Given the description of an element on the screen output the (x, y) to click on. 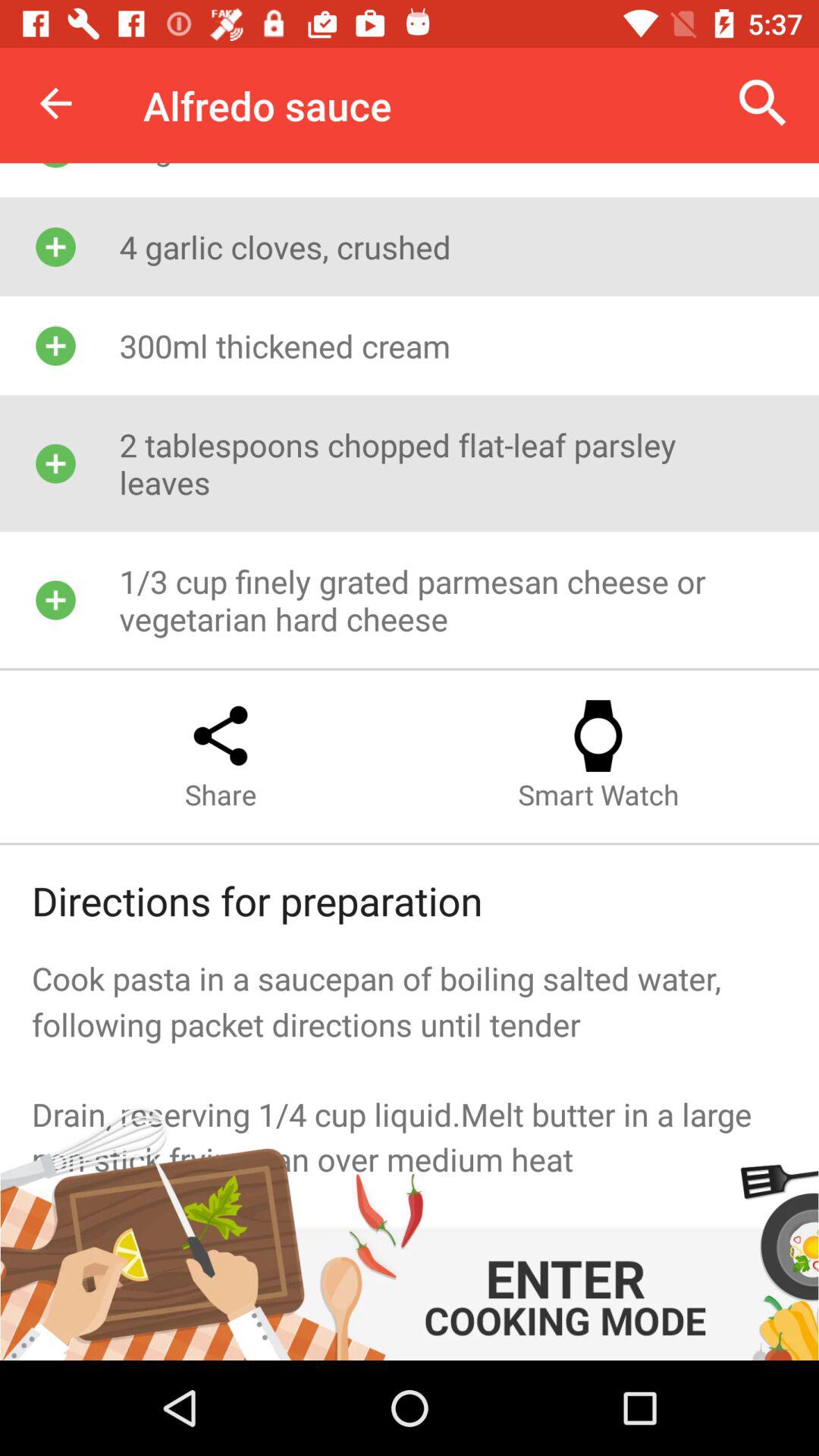
open the icon at the top right corner (763, 103)
